Given the description of an element on the screen output the (x, y) to click on. 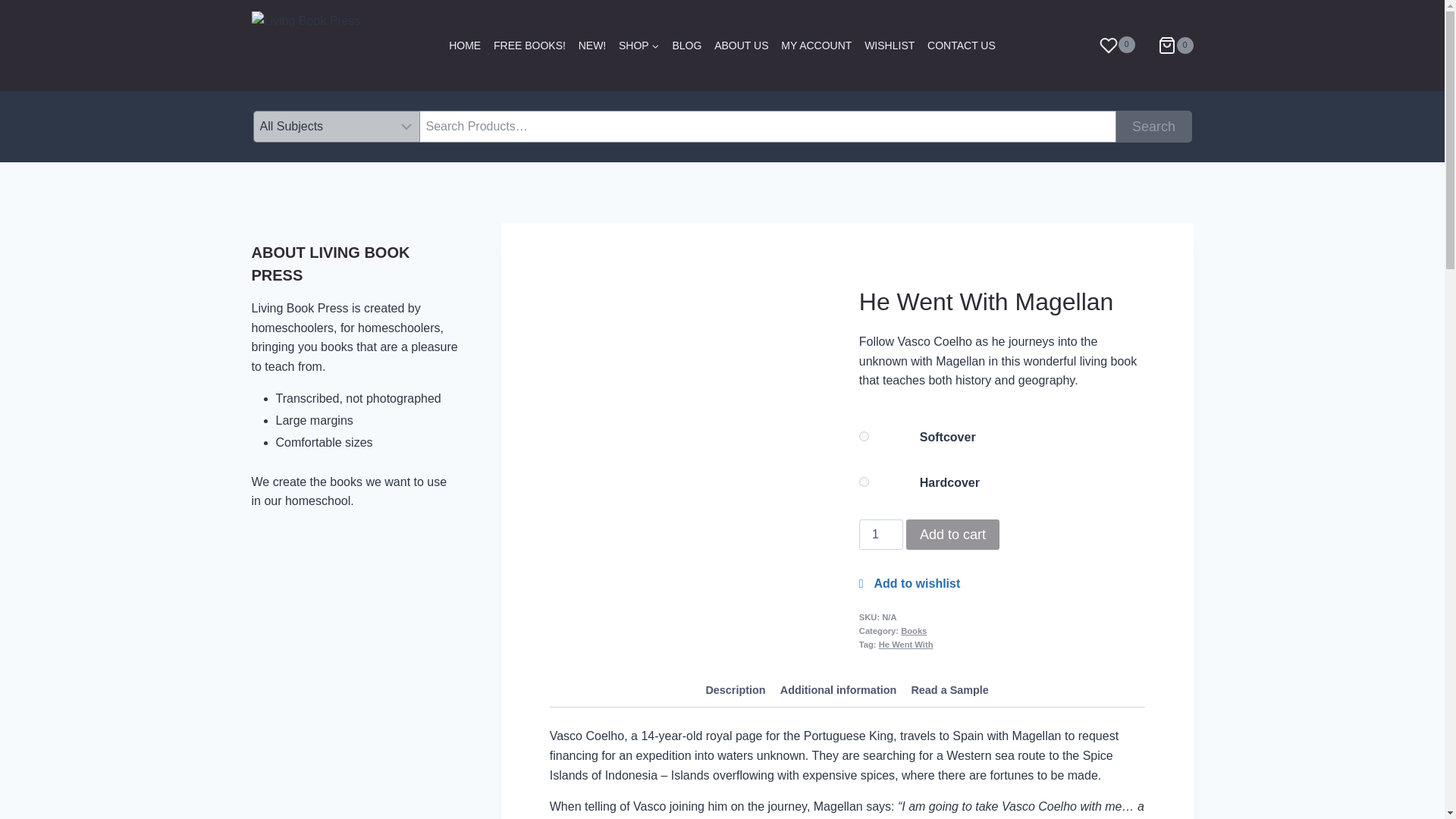
1 (880, 534)
SHOP (638, 44)
Search (1154, 126)
FREE BOOKS! (529, 44)
NEW! (591, 44)
He Went With Magellan 1 (692, 414)
on (864, 436)
HOME (464, 44)
on (864, 481)
